Given the description of an element on the screen output the (x, y) to click on. 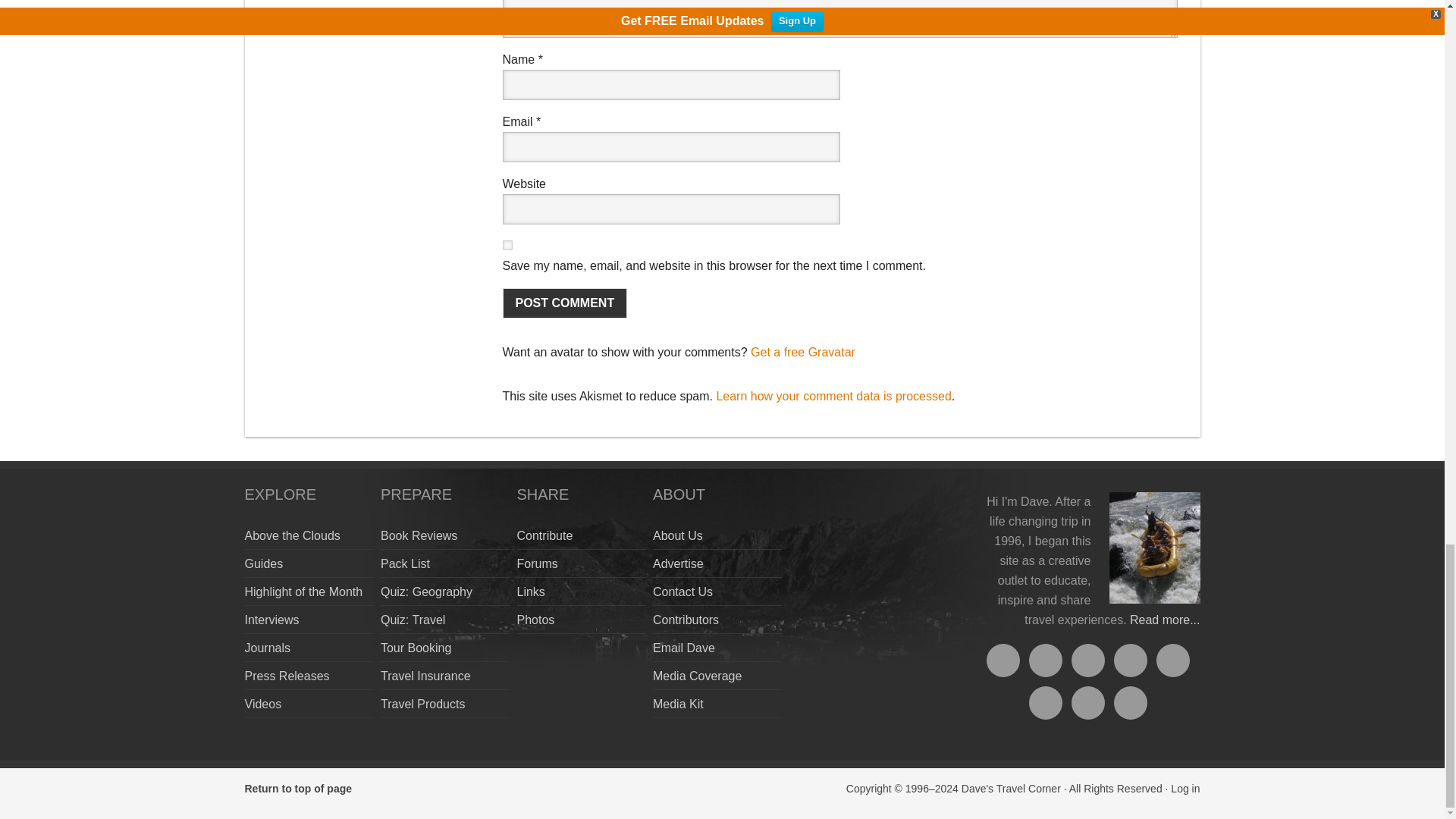
Post Comment (564, 303)
yes (507, 245)
Get a free Gravatar (803, 351)
Post Comment (564, 303)
